Given the description of an element on the screen output the (x, y) to click on. 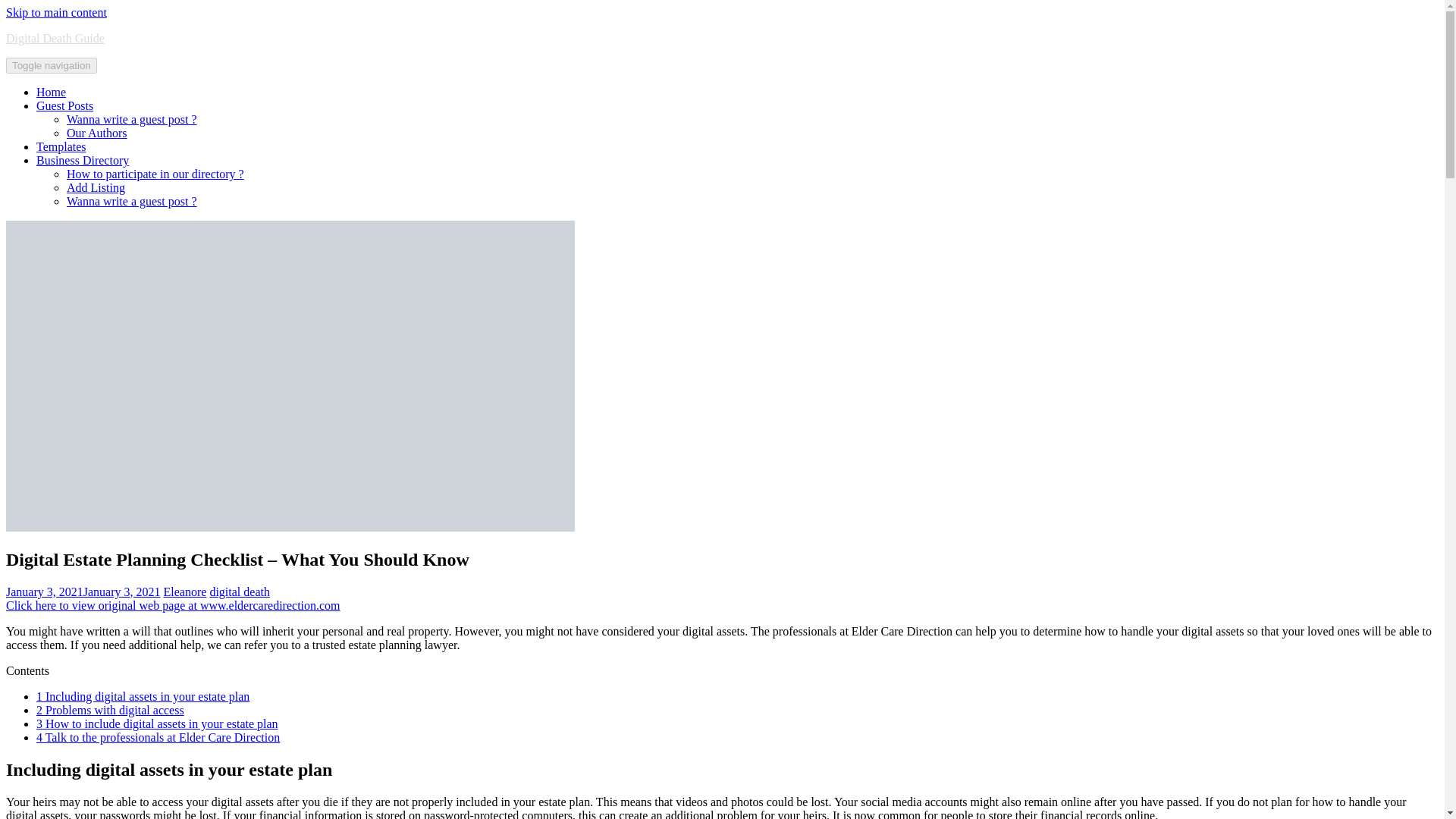
Digital Death Guide (54, 38)
Digital Death Guide (54, 38)
Business Directory (82, 160)
Add Listing (95, 187)
How to participate in our directory ? (155, 173)
January 3, 2021January 3, 2021 (82, 591)
Wanna write a guest post ? (131, 201)
Wanna write a guest post ? (131, 119)
Guest Posts (64, 105)
